Given the description of an element on the screen output the (x, y) to click on. 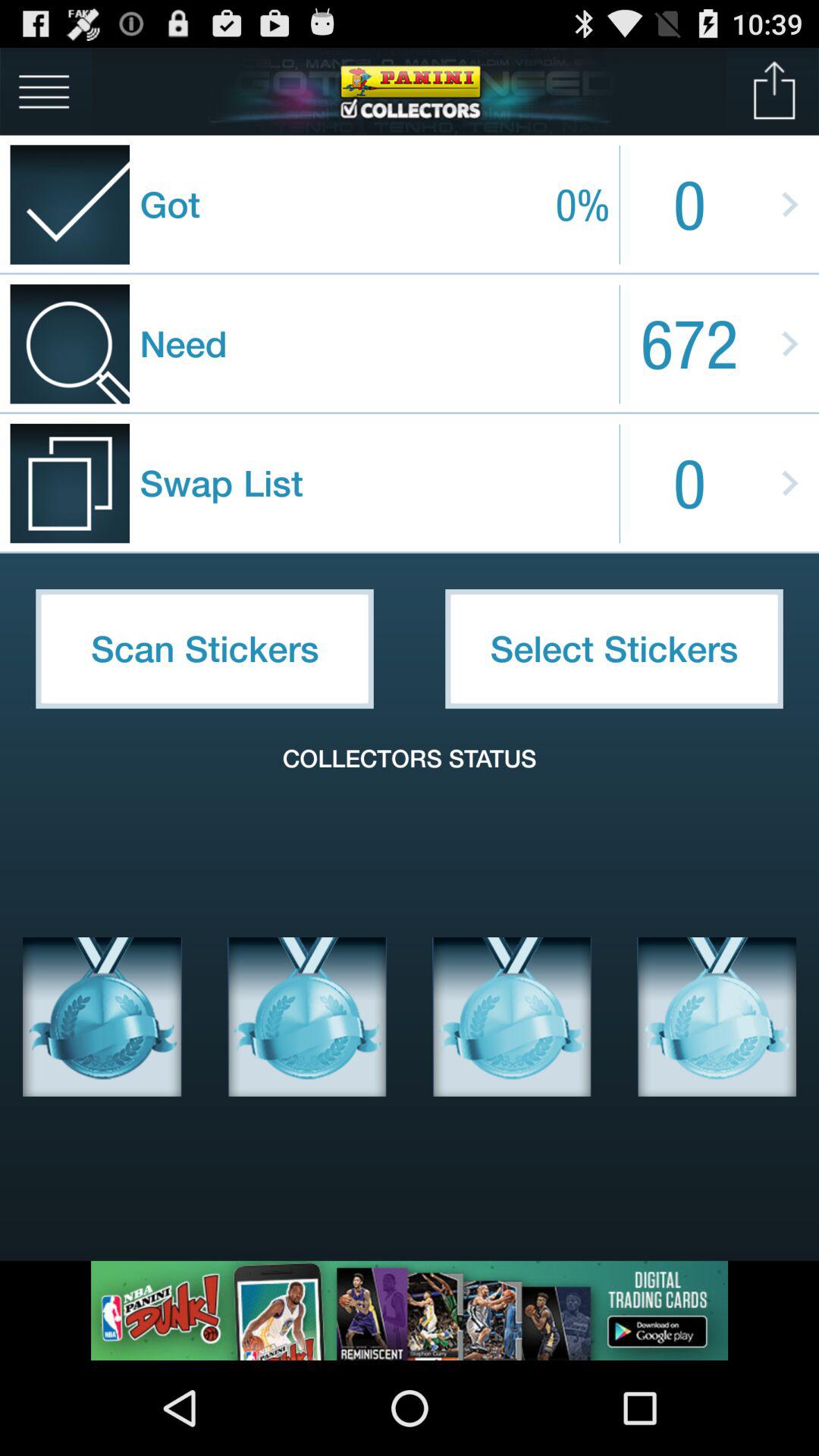
press icon below collectors status item (306, 1016)
